Given the description of an element on the screen output the (x, y) to click on. 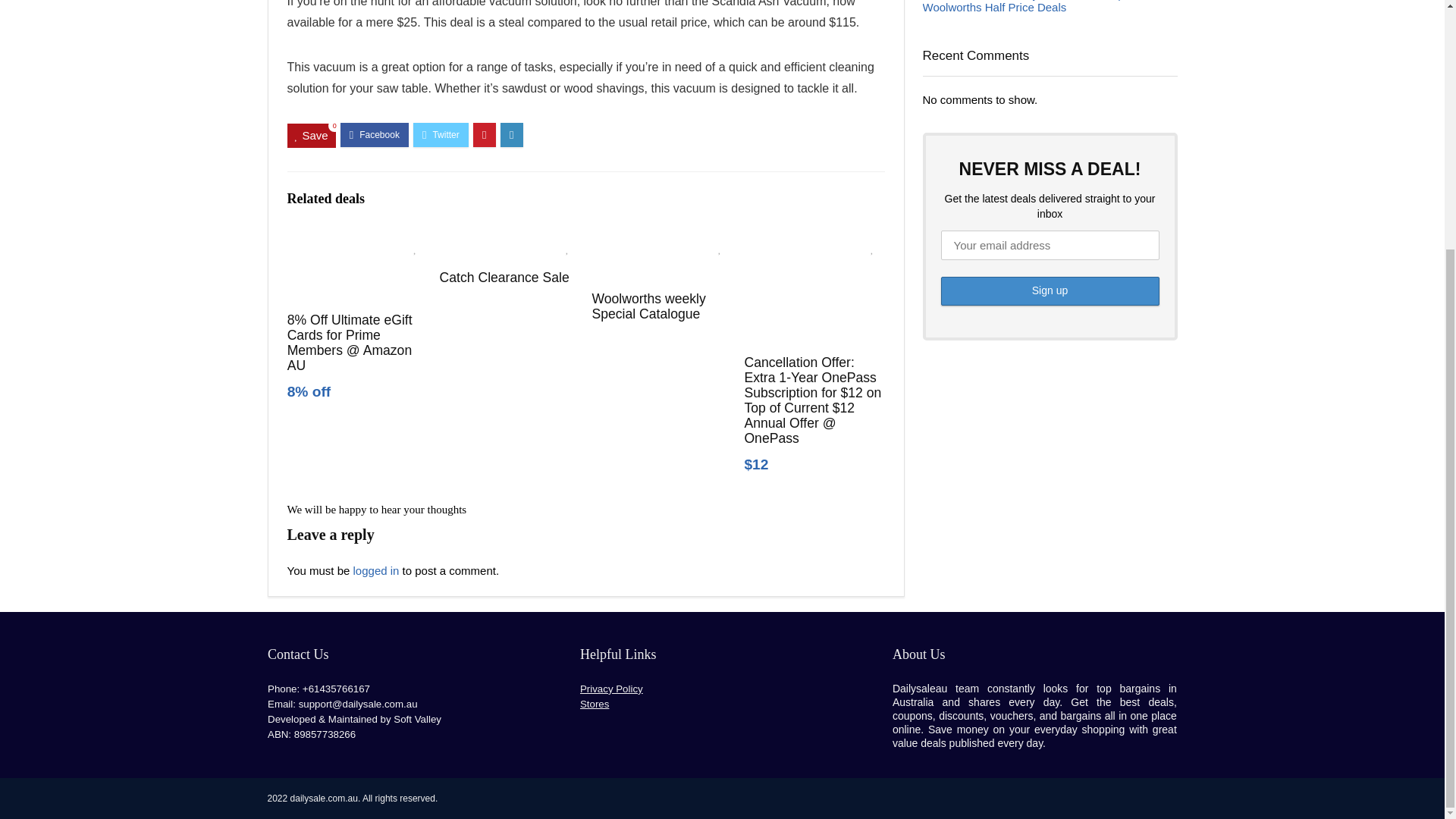
Catch Clearance Sale (504, 277)
Woolworths weekly Special Catalogue (647, 306)
Sign up (1049, 290)
